Given the description of an element on the screen output the (x, y) to click on. 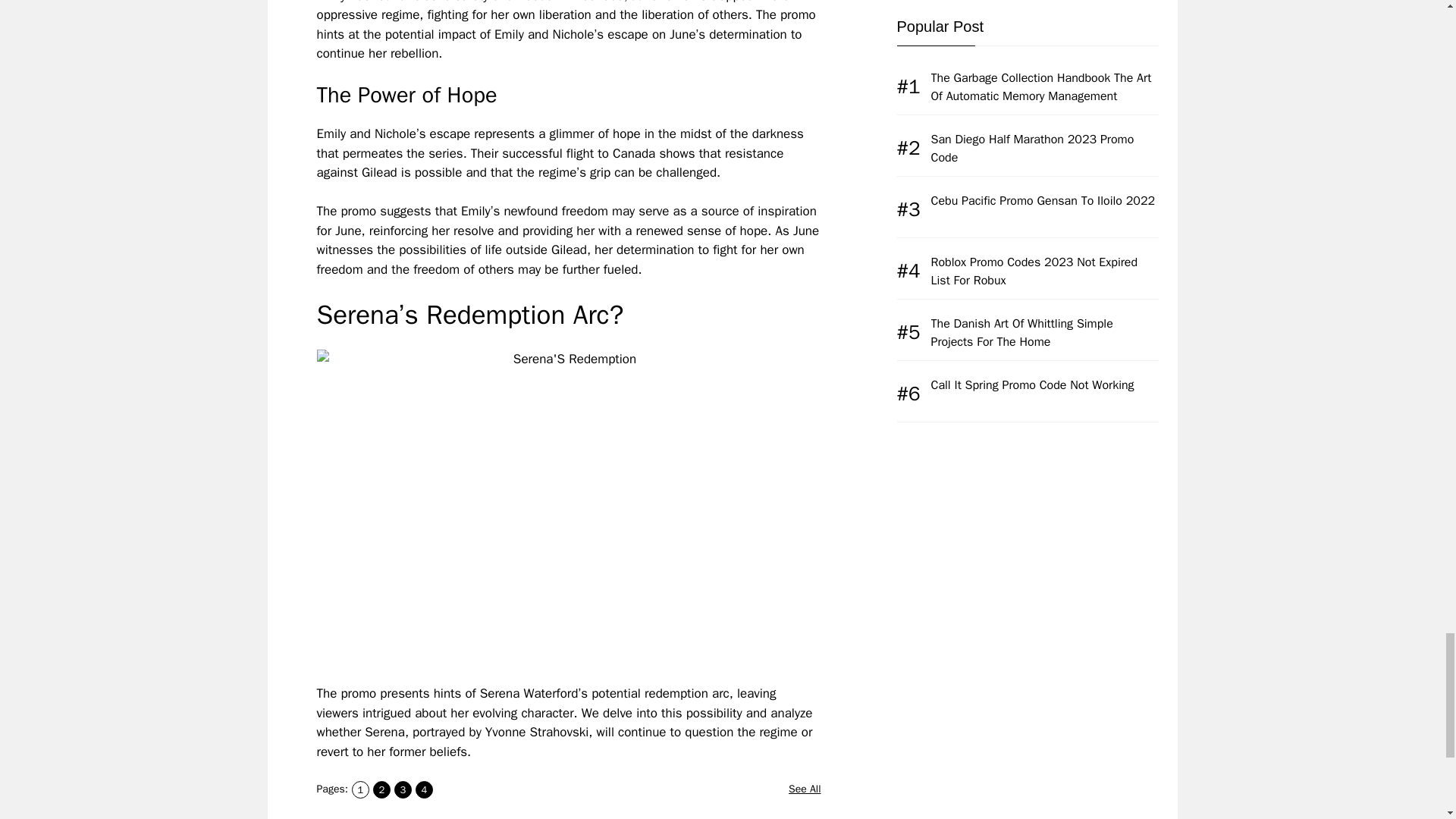
3 (403, 789)
2 (381, 789)
See All (805, 788)
4 (423, 789)
